Given the description of an element on the screen output the (x, y) to click on. 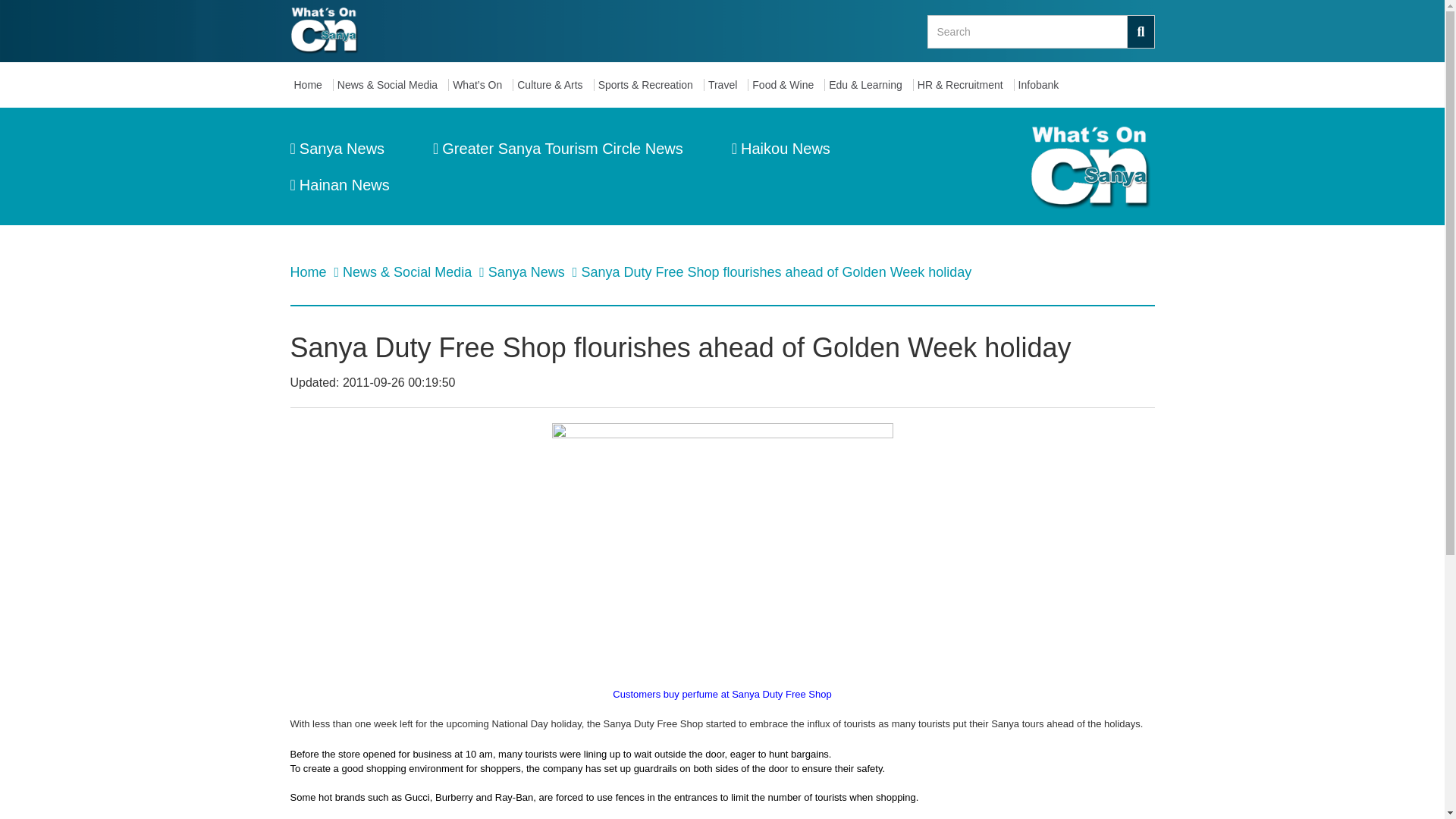
Haikou News (780, 148)
Infobank (1042, 84)
Greater Sanya Tourism Circle News (557, 148)
Sanya News (528, 272)
Home (311, 84)
Hainan News (338, 184)
Home (309, 272)
Sanya News (336, 148)
Travel (726, 84)
